Given the description of an element on the screen output the (x, y) to click on. 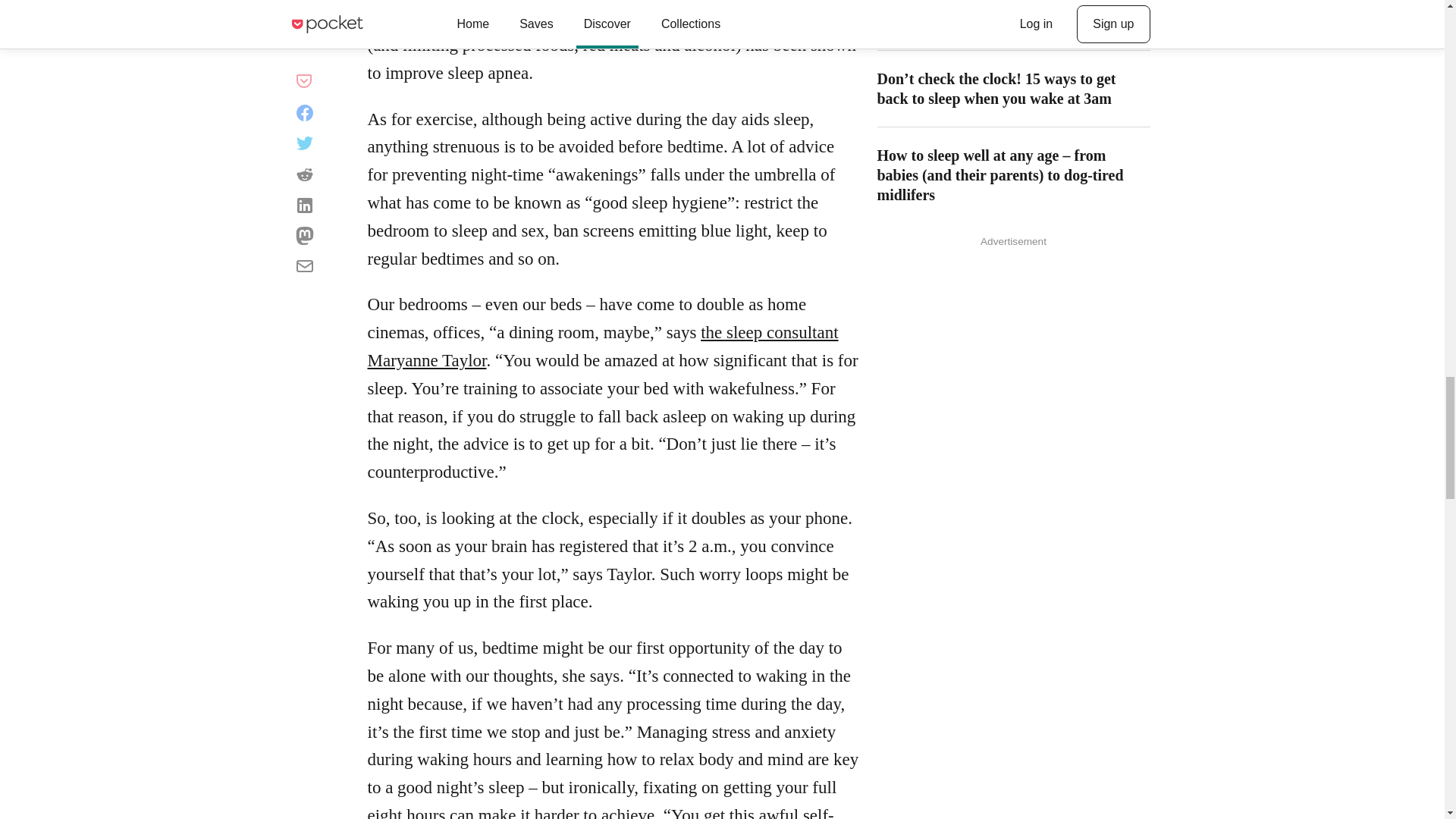
the sleep consultant Maryanne Taylor (602, 346)
